Given the description of an element on the screen output the (x, y) to click on. 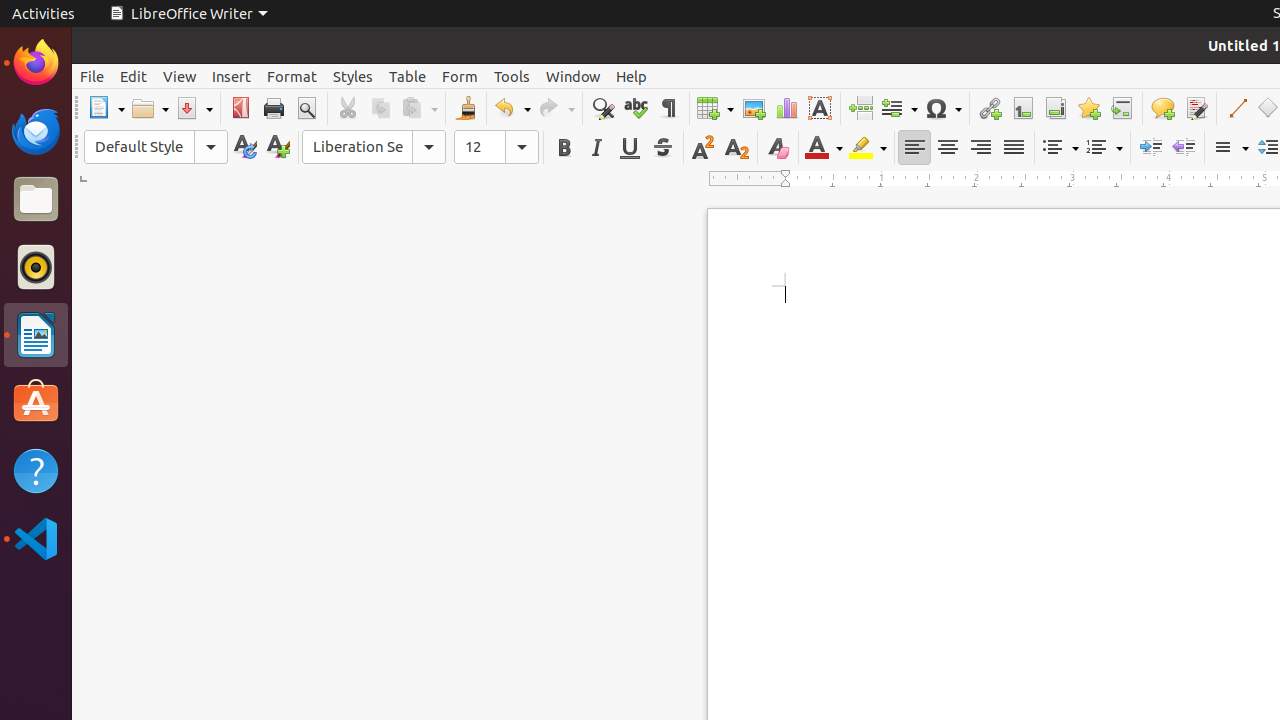
Thunderbird Mail Element type: push-button (36, 131)
Bullets Element type: push-button (1060, 147)
Clone Element type: push-button (465, 108)
Symbol Element type: push-button (943, 108)
Font Name Element type: panel (374, 147)
